Given the description of an element on the screen output the (x, y) to click on. 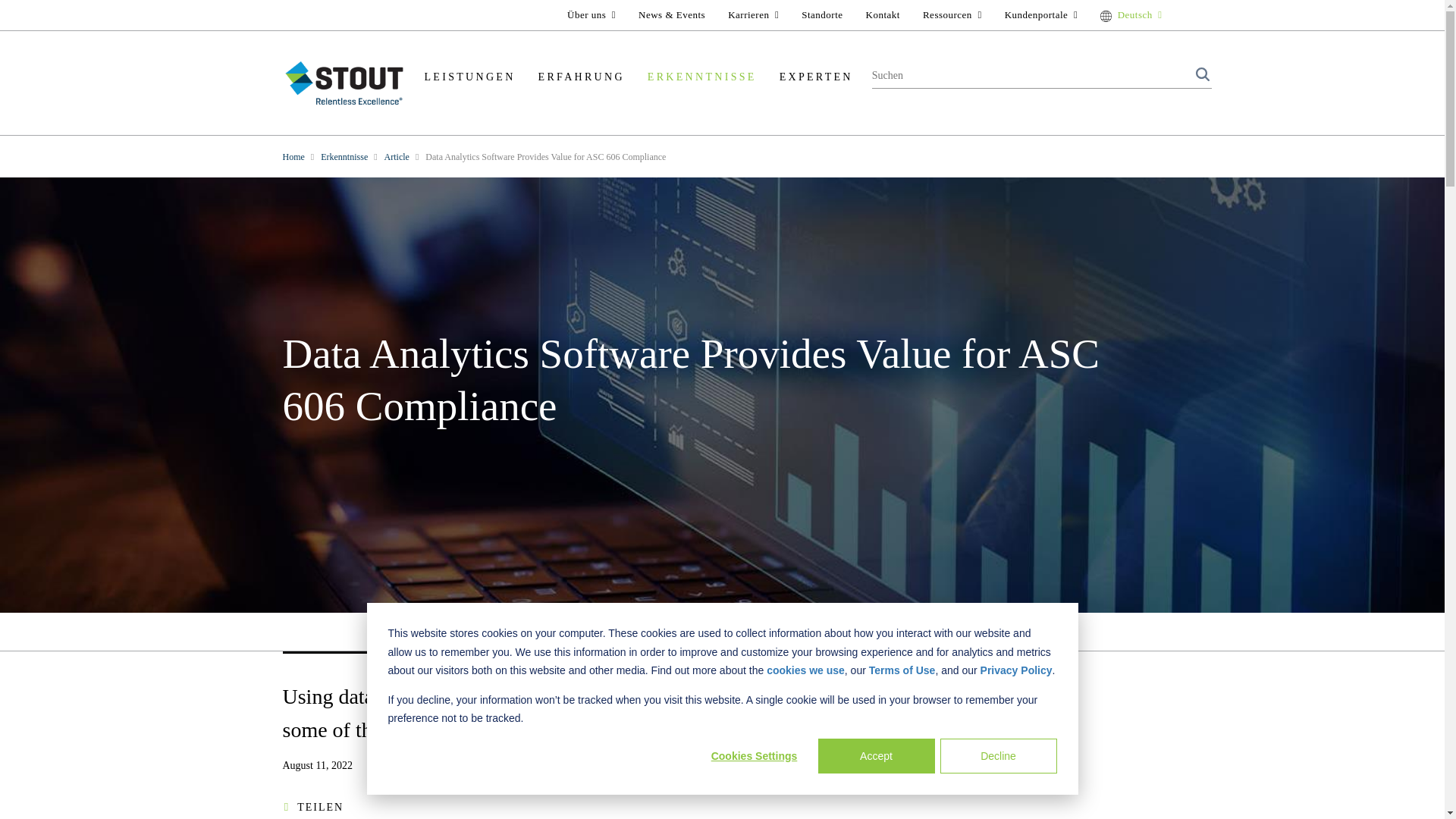
Ressourcen   (951, 14)
Karrieren   (753, 14)
Standorte (821, 14)
Kundenportale   (1040, 14)
Kontakt (882, 14)
